Given the description of an element on the screen output the (x, y) to click on. 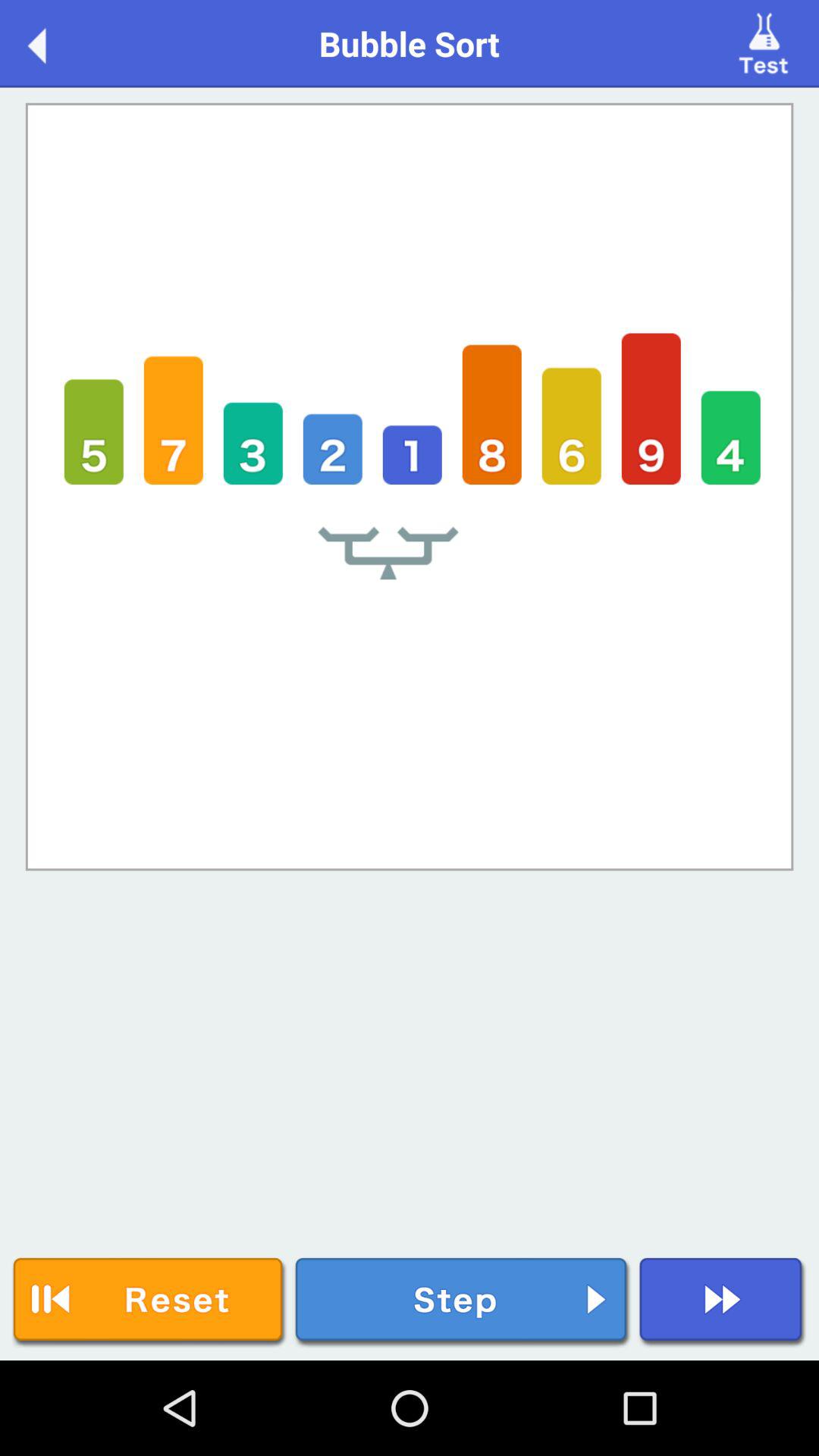
next button (722, 1302)
